Given the description of an element on the screen output the (x, y) to click on. 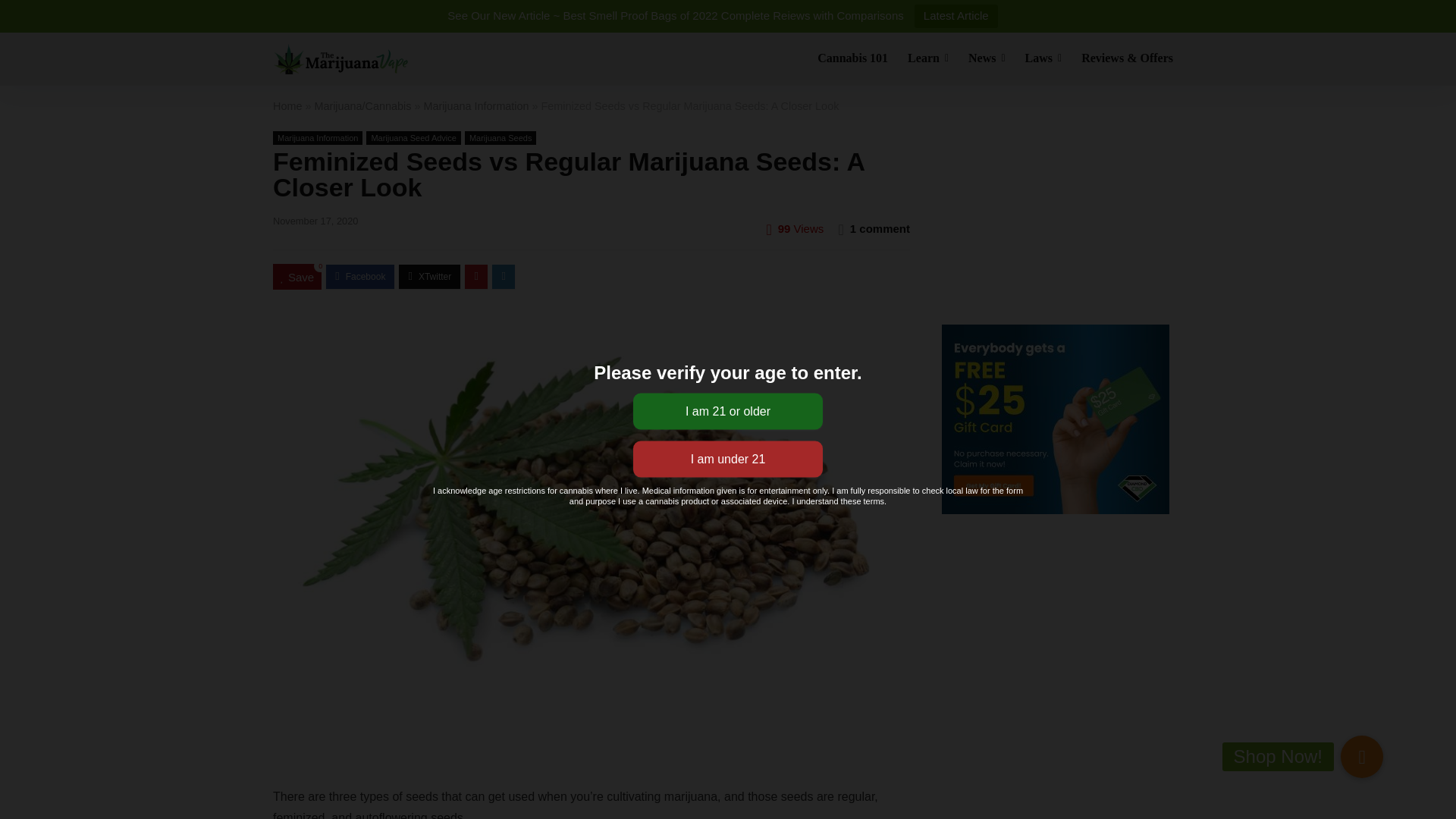
View all posts in Marijuana Information (317, 137)
Learn (928, 59)
I am under 21 (727, 459)
View all posts in Marijuana Seeds (500, 137)
Latest Article (955, 15)
Cannabis 101 (853, 59)
I am 21 or older (727, 411)
View all posts in Marijuana Seed Advice (413, 137)
